Given the description of an element on the screen output the (x, y) to click on. 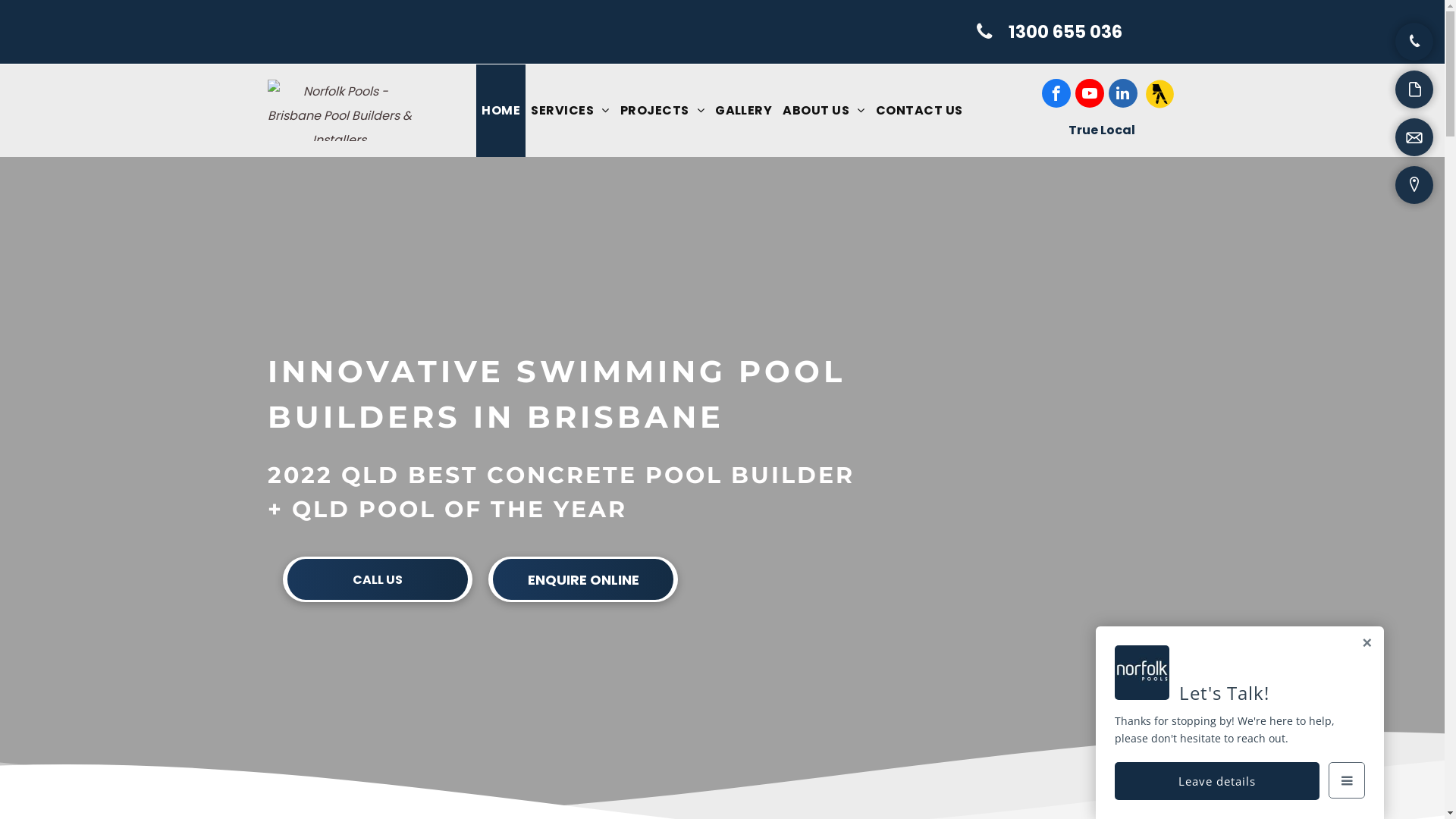
True Local Element type: text (1100, 129)
SERVICES Element type: text (569, 110)
1300 655 036 Element type: text (1049, 31)
ABOUT US Element type: text (823, 110)
HOME Element type: text (500, 110)
Leave details Element type: text (1216, 781)
Norfolk Pools Element type: hover (338, 110)
GALLERY Element type: text (743, 110)
PROJECTS Element type: text (662, 110)
CALL US Element type: text (377, 579)
ENQUIRE ONLINE Element type: text (582, 579)
CONTACT US Element type: text (919, 110)
